Given the description of an element on the screen output the (x, y) to click on. 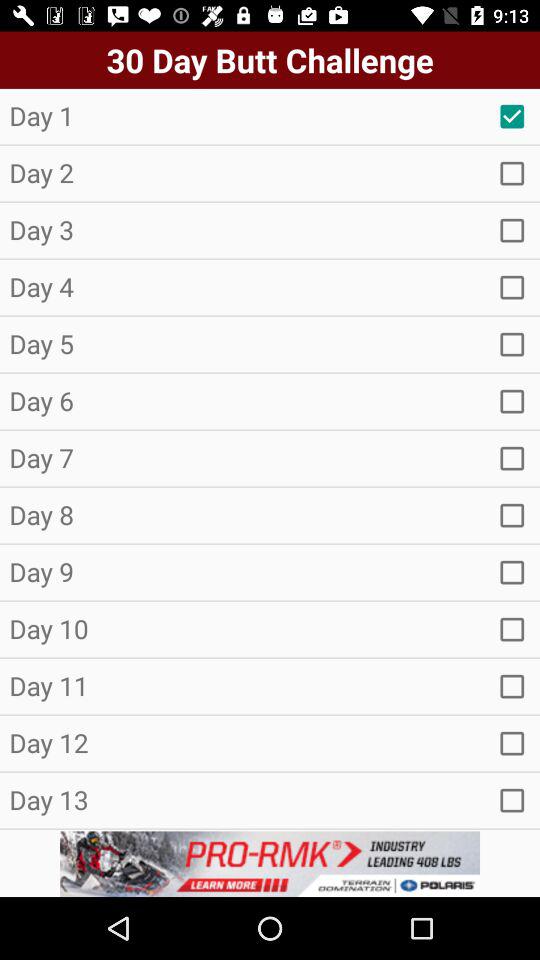
select option (512, 686)
